Given the description of an element on the screen output the (x, y) to click on. 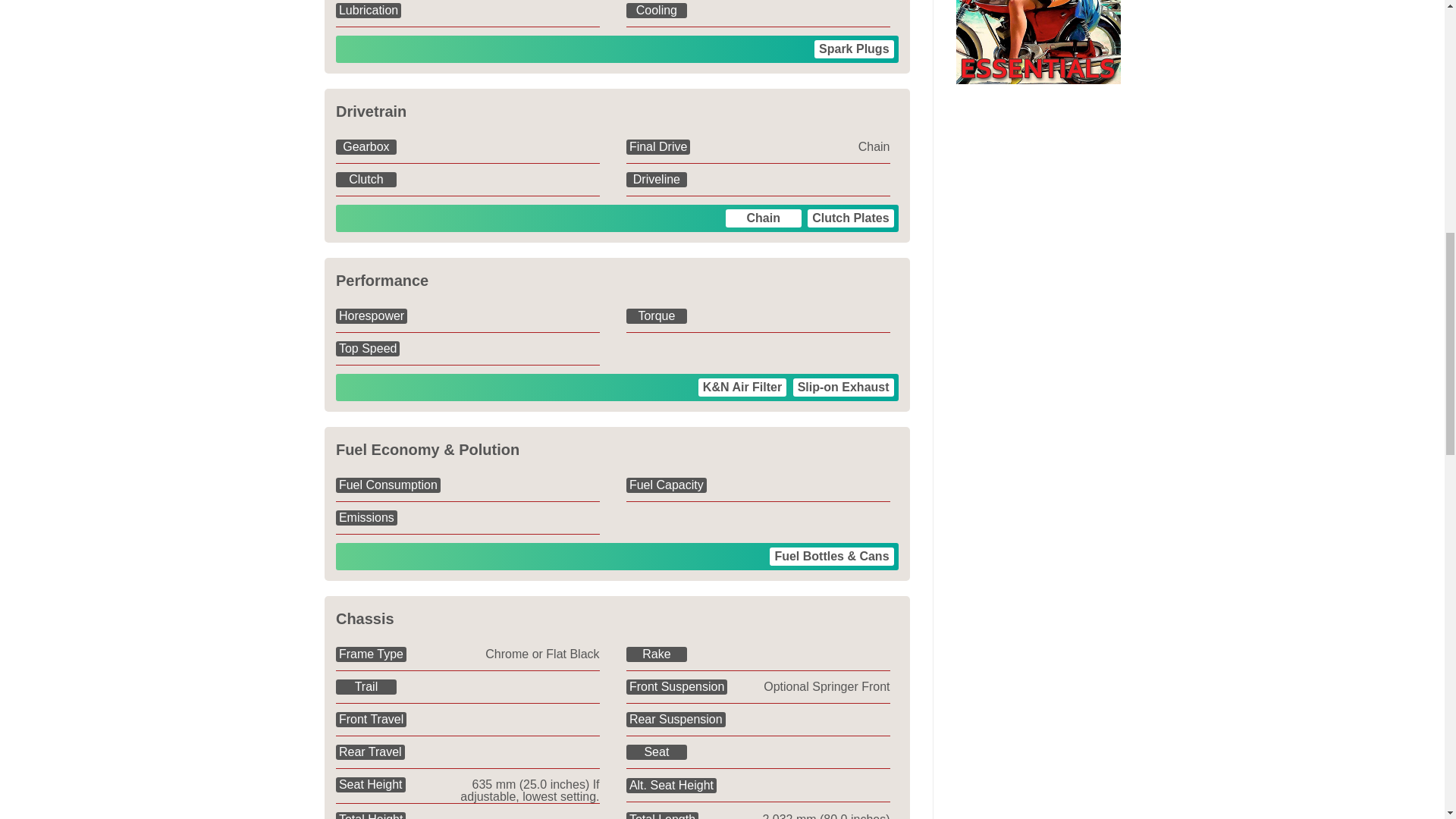
Slip-on Exhaust (843, 387)
Clutch Plates (850, 218)
Spark Plugs (853, 49)
Chain (763, 218)
